Given the description of an element on the screen output the (x, y) to click on. 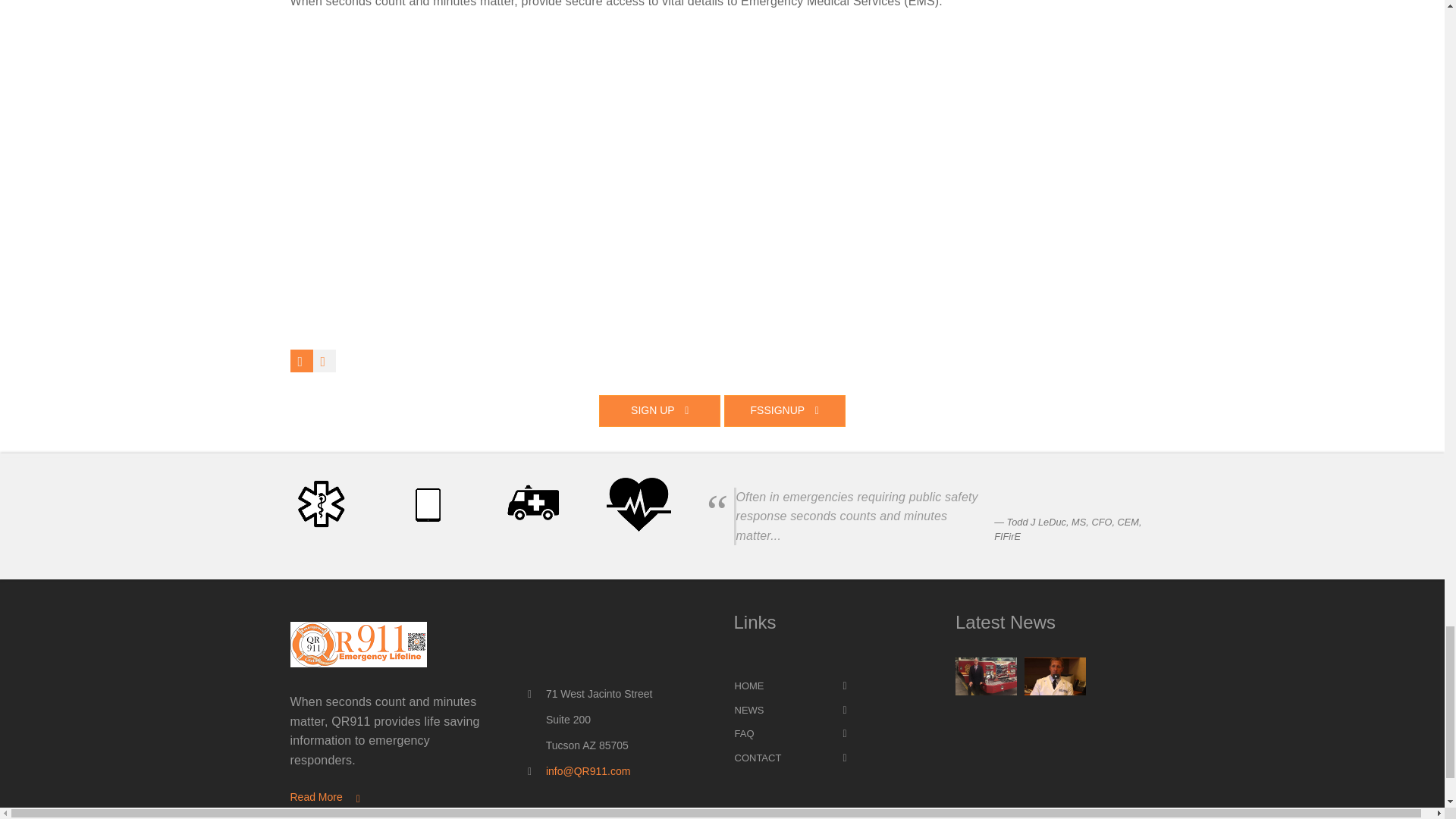
Source Title (1067, 528)
SIGN UP (659, 410)
FSSIGNUP (784, 410)
